Given the description of an element on the screen output the (x, y) to click on. 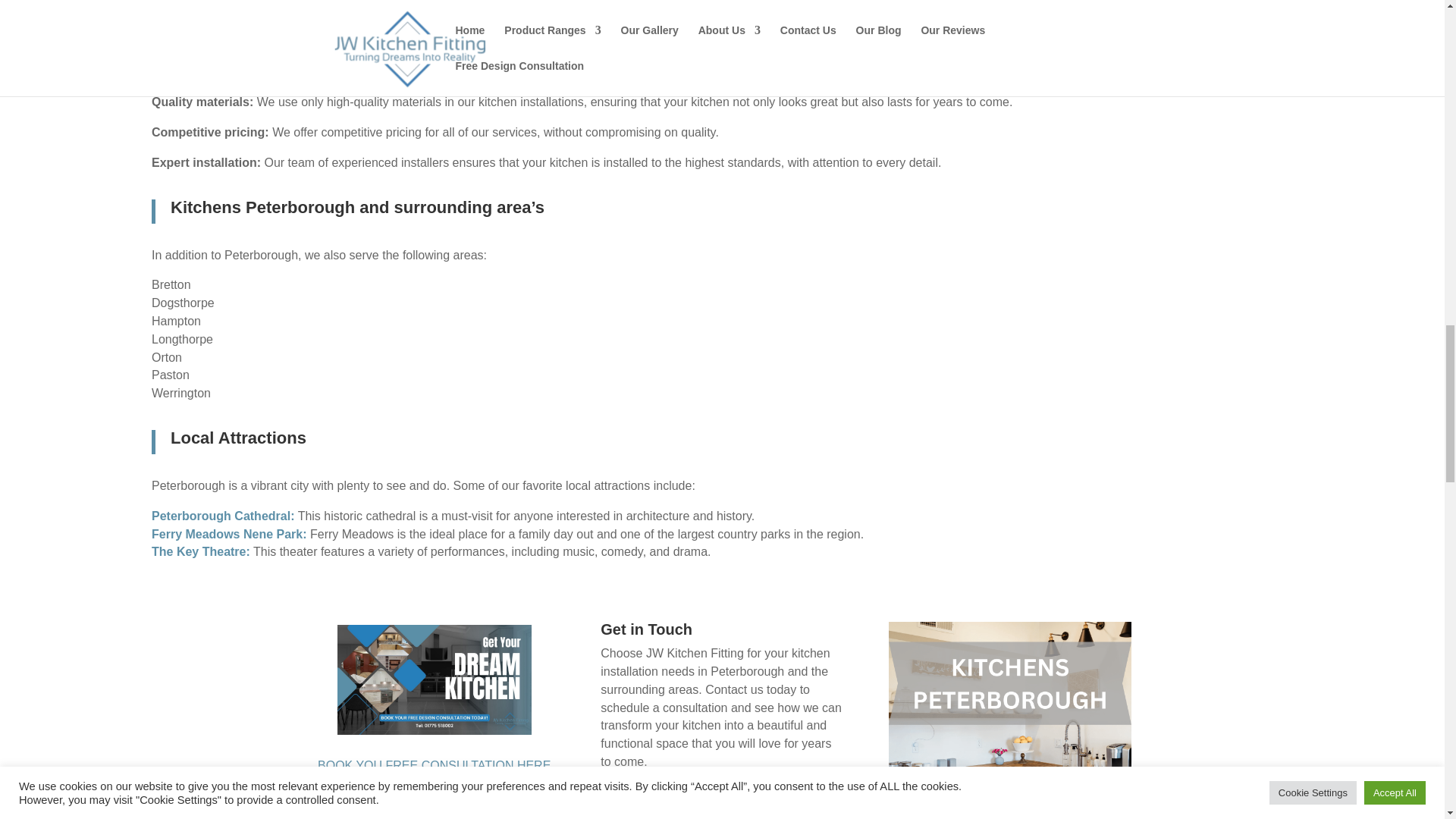
Kitchens-Peterborough (1009, 720)
BOOK YOU FREE CONSULTATION HERE (433, 765)
Peterborough Cathedral: (222, 515)
Kitchen Designers Spalding Area (434, 678)
Ferry Meadows Nene Park: (230, 533)
The Key Theatre: (200, 551)
